Given the description of an element on the screen output the (x, y) to click on. 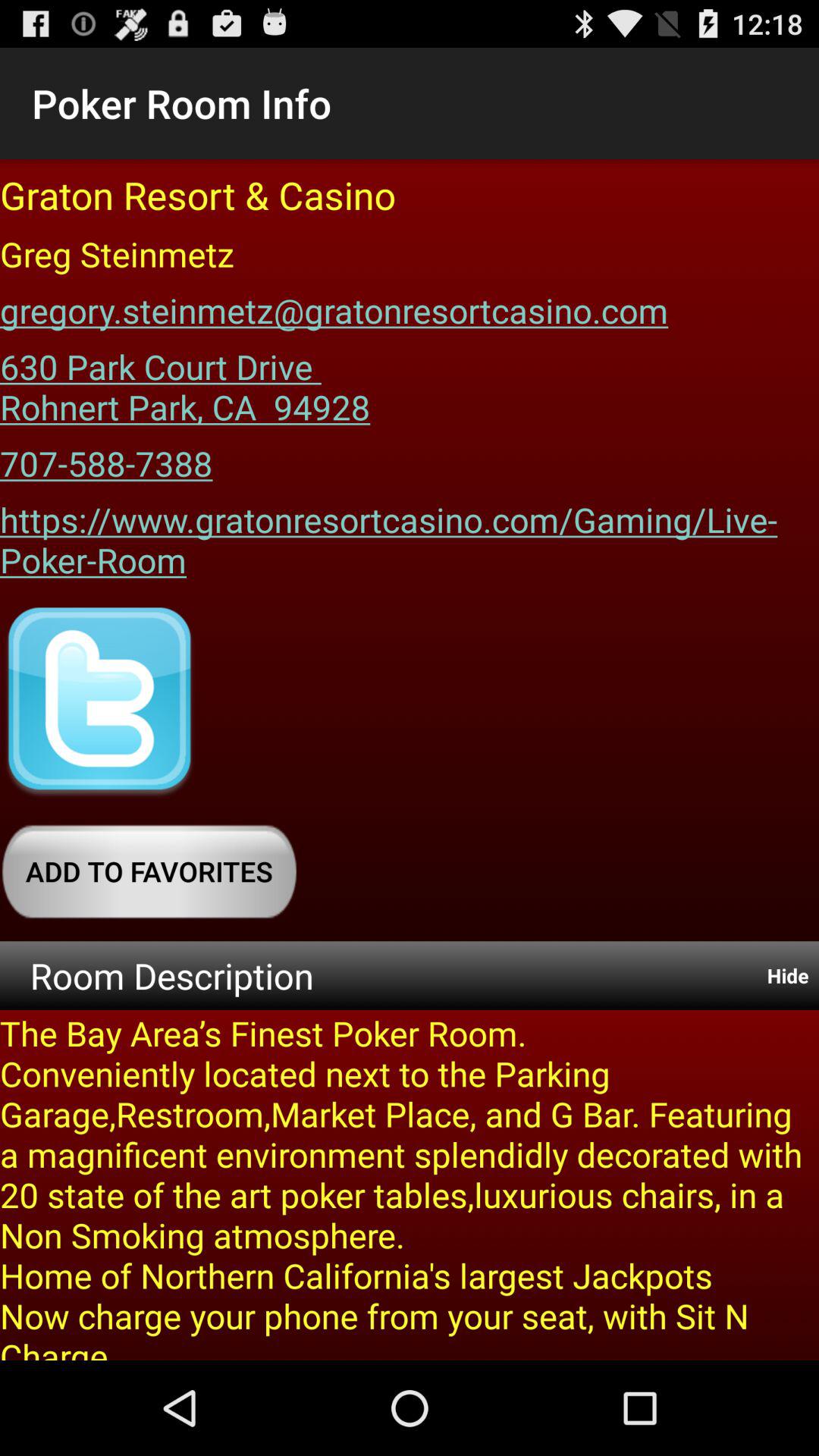
choose 707-588-7388 app (106, 457)
